Given the description of an element on the screen output the (x, y) to click on. 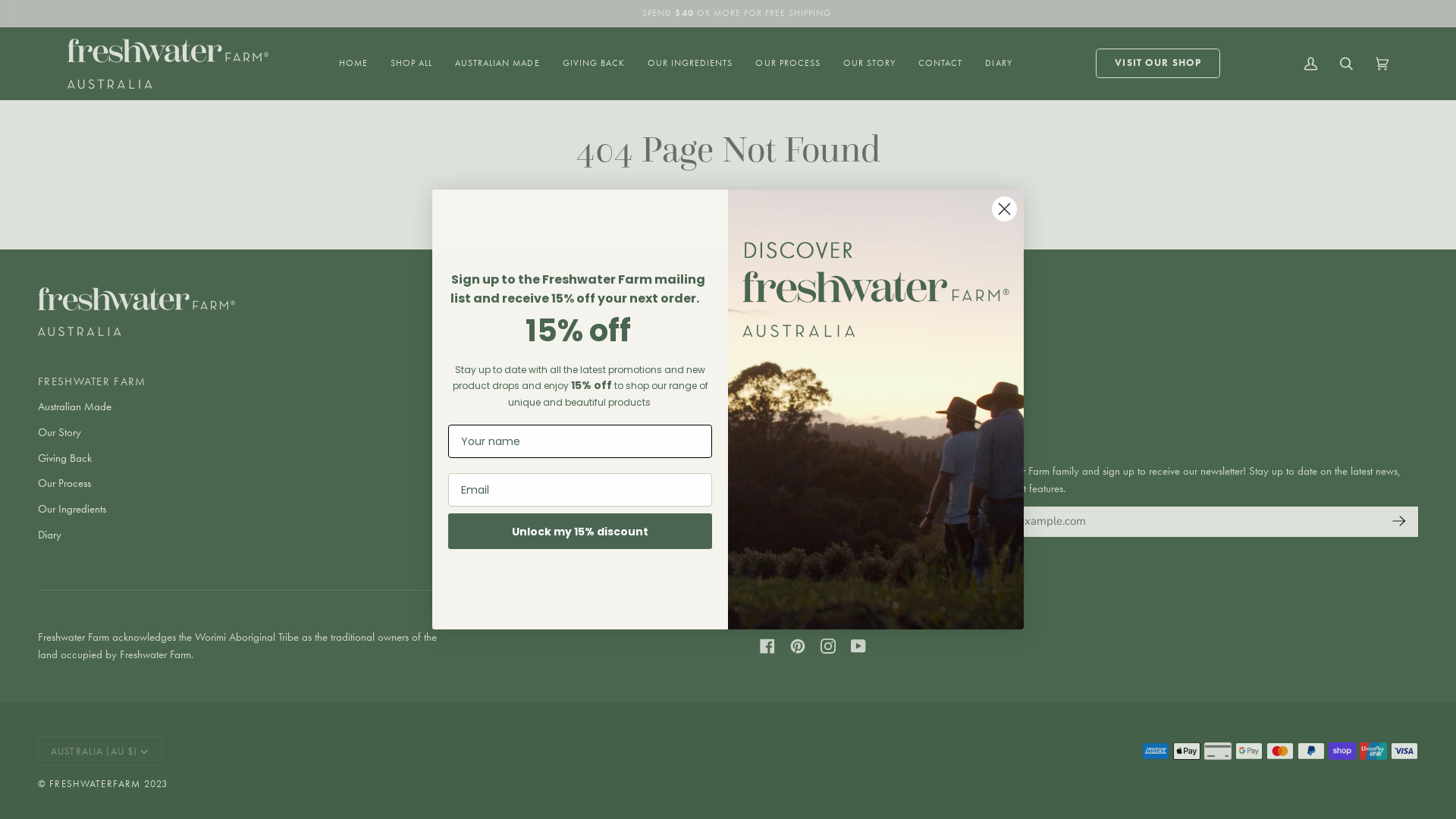
FRESHWATERFARM Element type: text (94, 783)
AUSTRALIAN MADE Element type: text (497, 63)
OUR PROCESS Element type: text (787, 63)
AUSTRALIA (AU $) Element type: text (99, 750)
Diary Element type: text (49, 534)
Australian Made Element type: text (74, 406)
Search Element type: text (1346, 63)
Cart
(0) Element type: text (1381, 63)
Facebook Element type: text (767, 645)
YouTube Element type: text (858, 645)
Subscribe Element type: text (1395, 521)
Unlock my 15% discount Element type: text (580, 531)
CONTACT Element type: text (939, 63)
Contact Us Element type: text (485, 406)
Instagram Element type: text (827, 645)
fresh Element type: hover (875, 409)
FAQ Element type: text (471, 431)
Our Ingredients Element type: text (71, 508)
Giving Back Element type: text (64, 457)
Our Process Element type: text (64, 482)
VISIT OUR SHOP Element type: text (1157, 63)
Terms & Conditions Element type: text (503, 482)
GIVING BACK Element type: text (593, 63)
Privacy Policy Element type: text (491, 457)
here Element type: text (777, 207)
DIARY Element type: text (997, 63)
My Account Element type: text (1310, 63)
Our Story Element type: text (59, 431)
Pinterest Element type: text (797, 645)
OUR INGREDIENTS Element type: text (690, 63)
OUR STORY Element type: text (868, 63)
Submit Element type: text (23, 15)
SHOP ALL Element type: text (411, 63)
HOME Element type: text (353, 63)
